Given the description of an element on the screen output the (x, y) to click on. 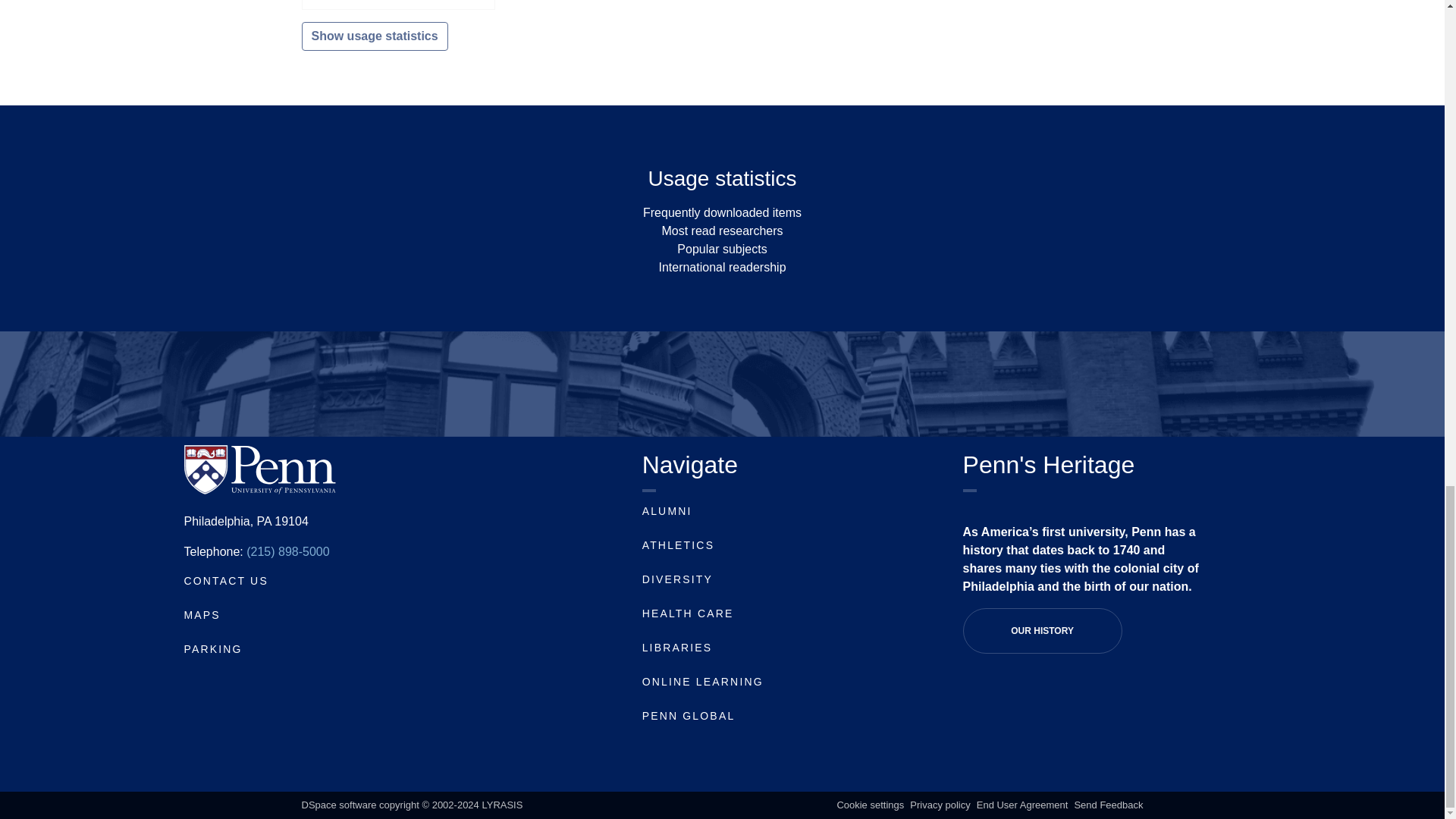
Most read researchers (722, 230)
Frequently downloaded items (722, 212)
International readership (722, 267)
Popular subjects (722, 248)
